Given the description of an element on the screen output the (x, y) to click on. 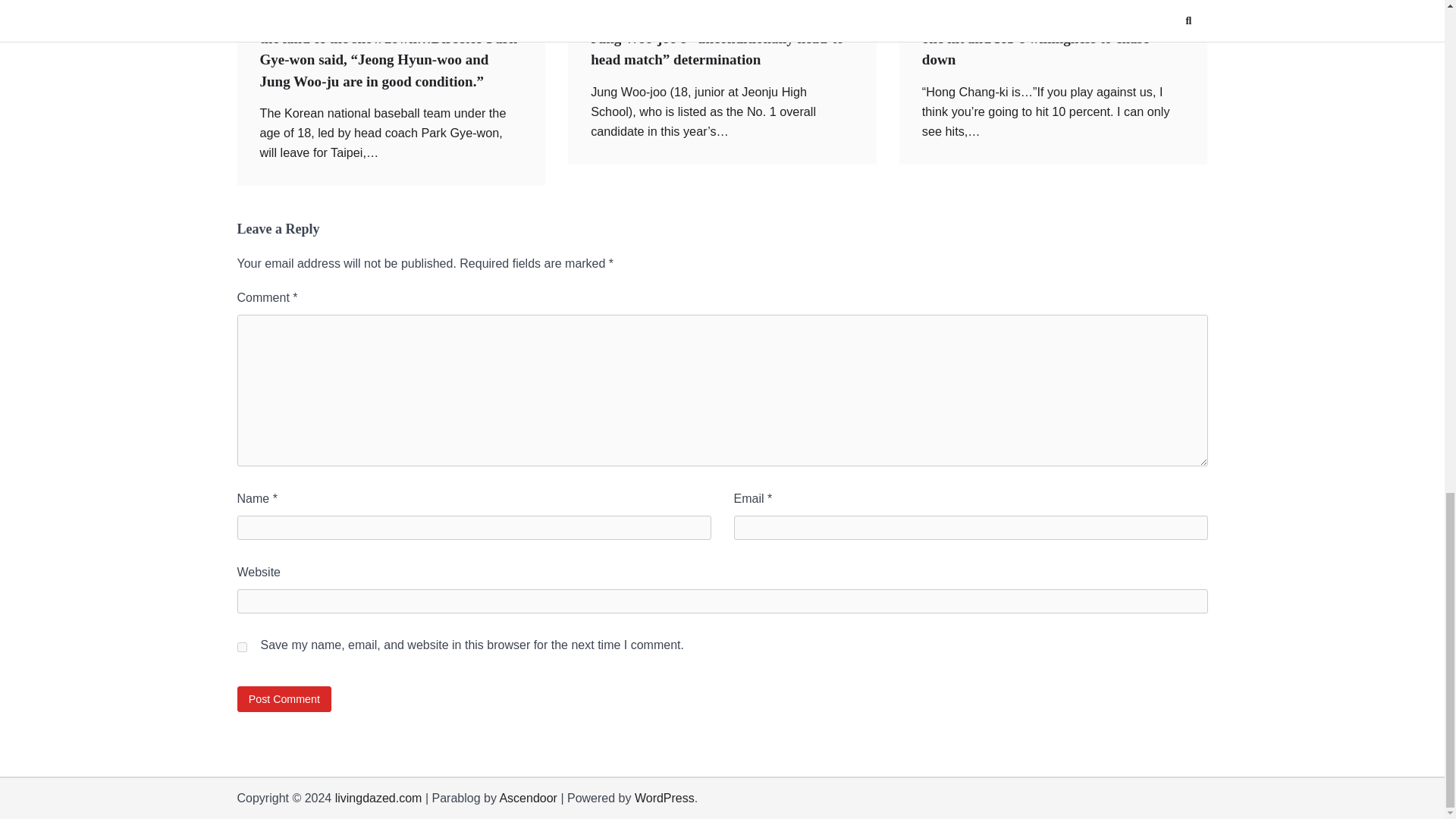
yes (240, 646)
Post Comment (283, 698)
Post Comment (283, 698)
livingdazed.com (378, 797)
Ascendoor (528, 797)
WordPress (664, 797)
